Given the description of an element on the screen output the (x, y) to click on. 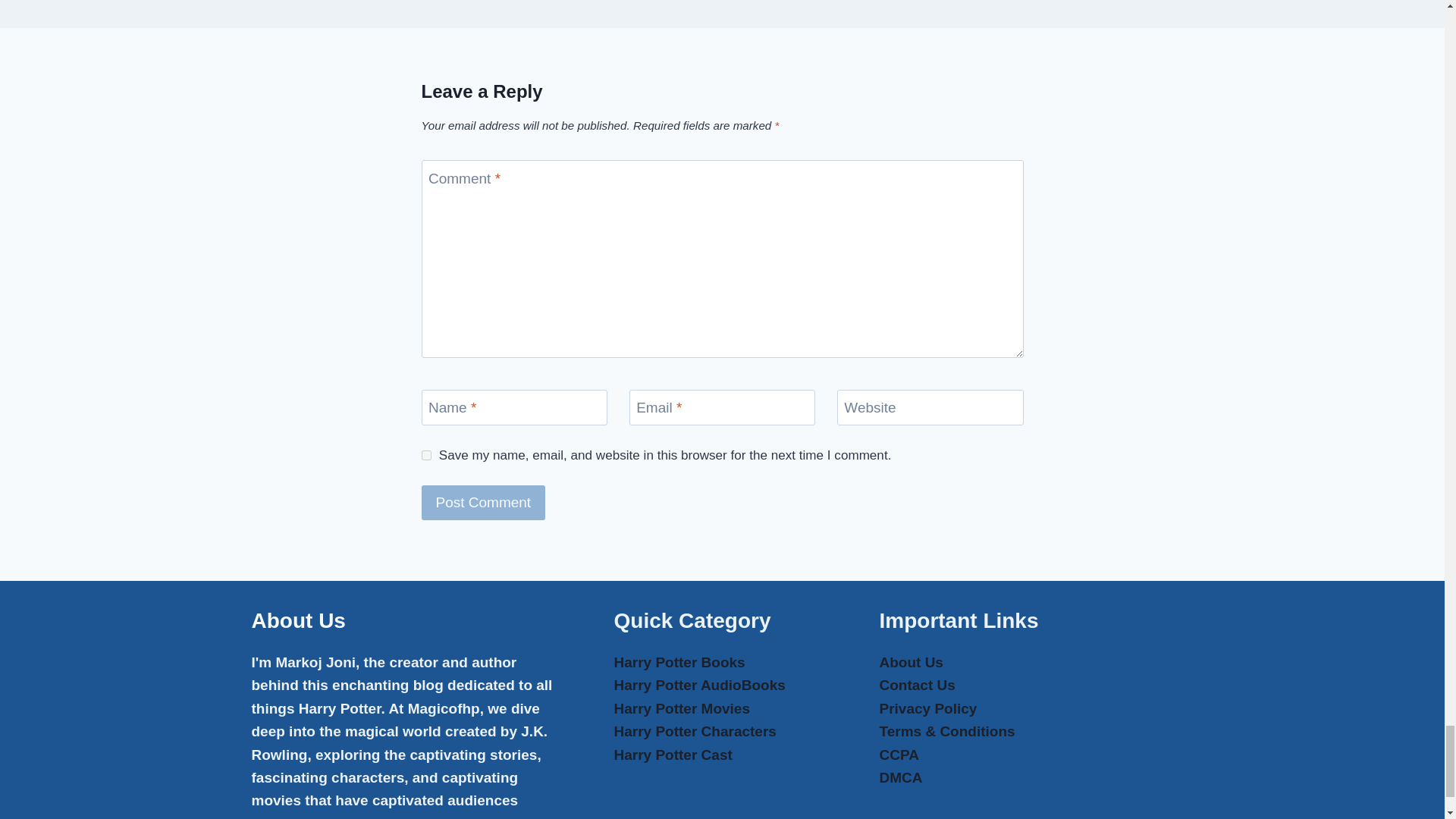
Post Comment (484, 502)
yes (426, 455)
